Given the description of an element on the screen output the (x, y) to click on. 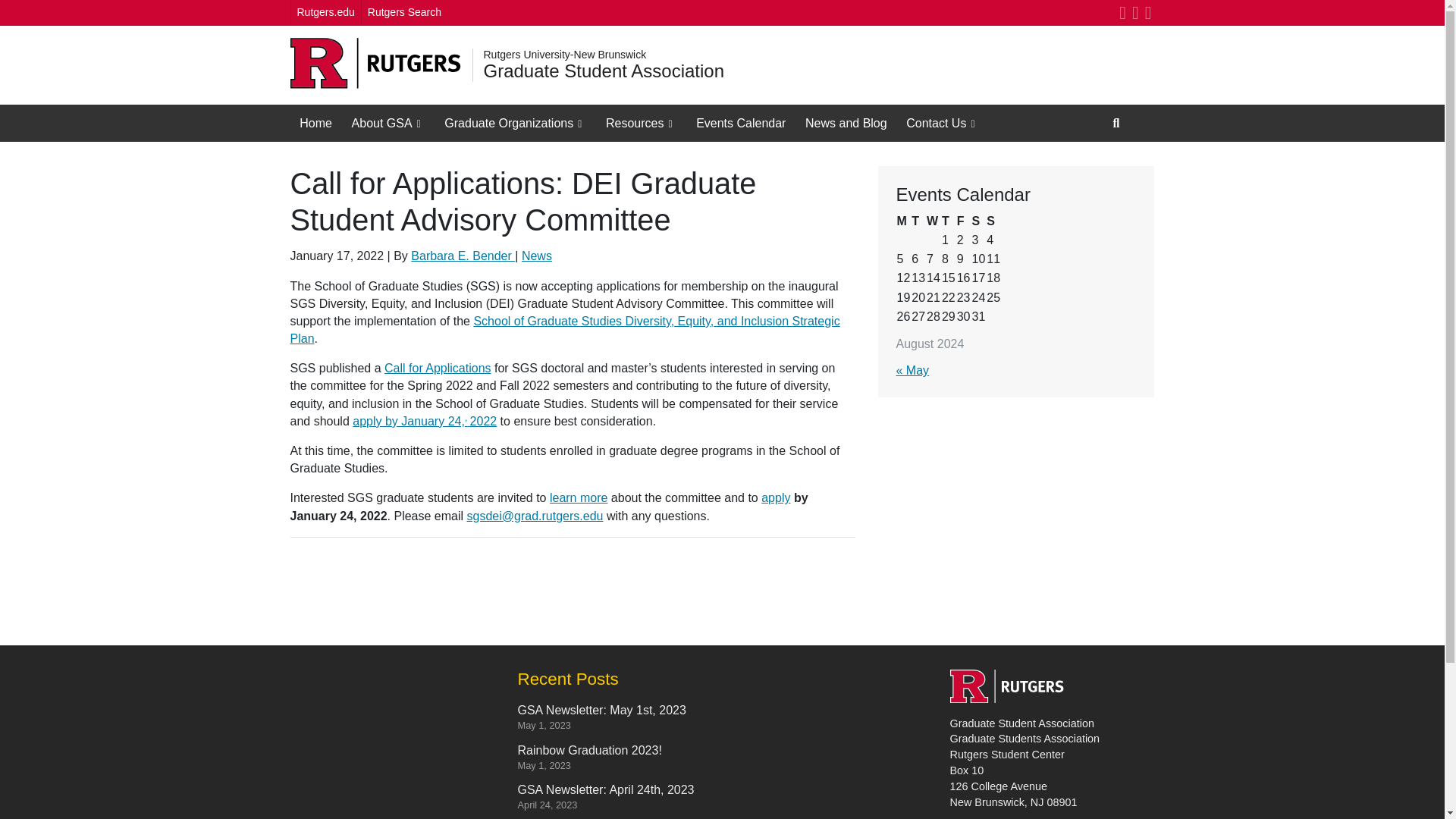
Contact Us (942, 122)
News and Blog (845, 122)
Resources (640, 122)
Rutgers University-New Brunswick (564, 54)
Go to Rutgers University homepage (374, 63)
Home (314, 122)
Go to Rutgers University-New Brunswick homepage (564, 54)
Graduate Student Association (604, 70)
About GSA (388, 122)
Events Calendar (739, 122)
